Given the description of an element on the screen output the (x, y) to click on. 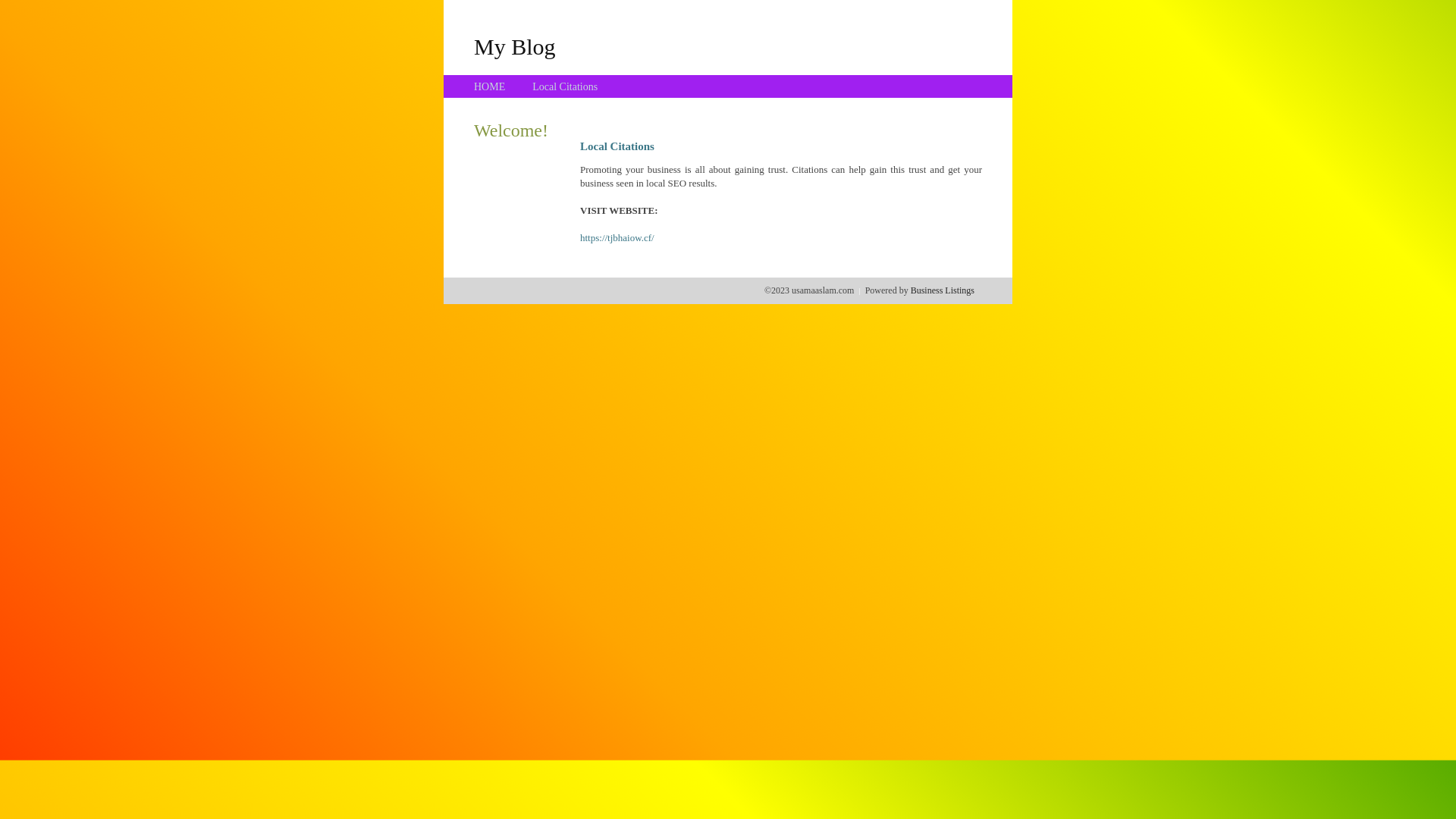
Local Citations Element type: text (564, 86)
https://tjbhaiow.cf/ Element type: text (617, 237)
HOME Element type: text (489, 86)
Business Listings Element type: text (942, 290)
My Blog Element type: text (514, 46)
